Given the description of an element on the screen output the (x, y) to click on. 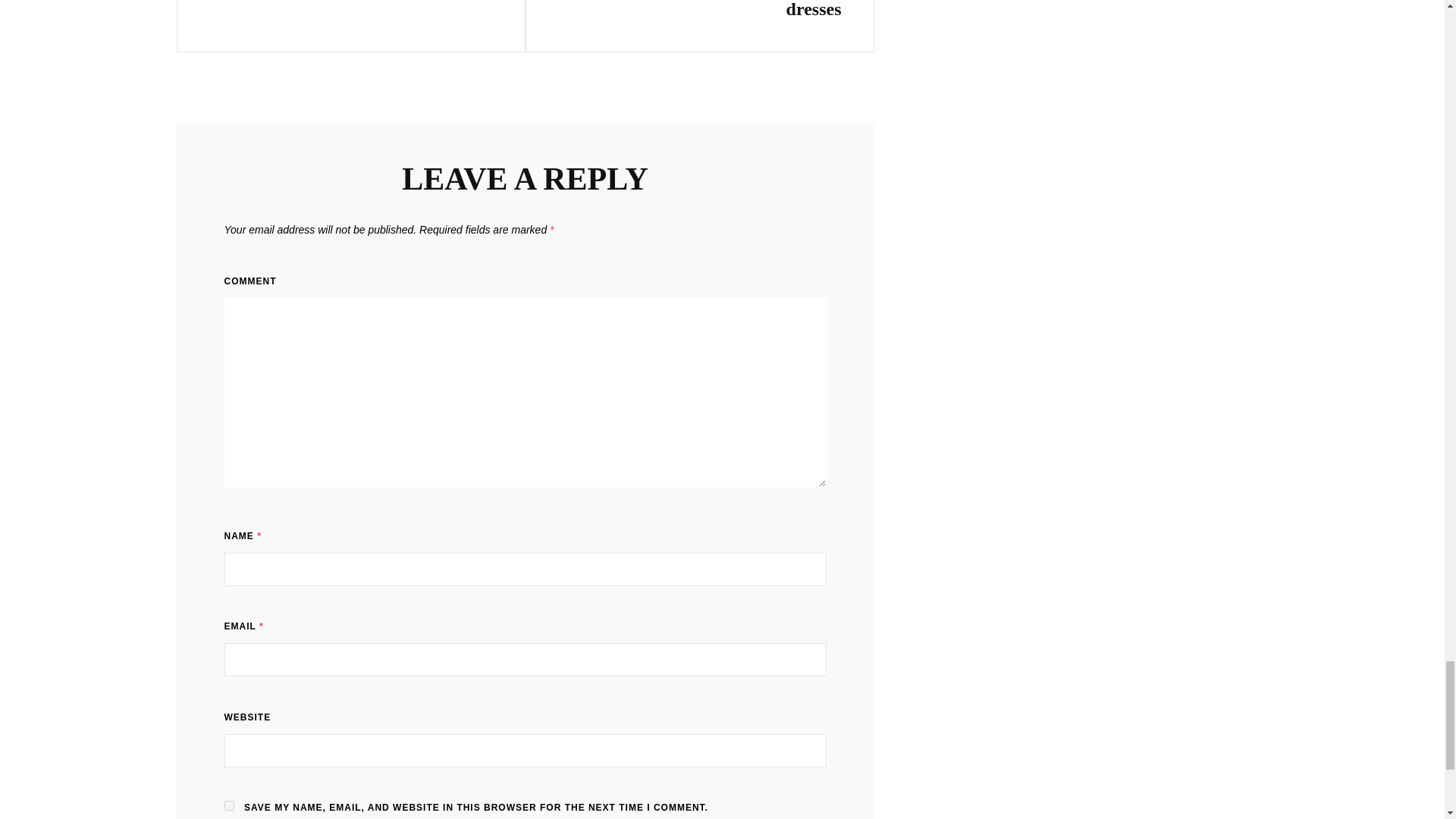
yes (229, 805)
